Given the description of an element on the screen output the (x, y) to click on. 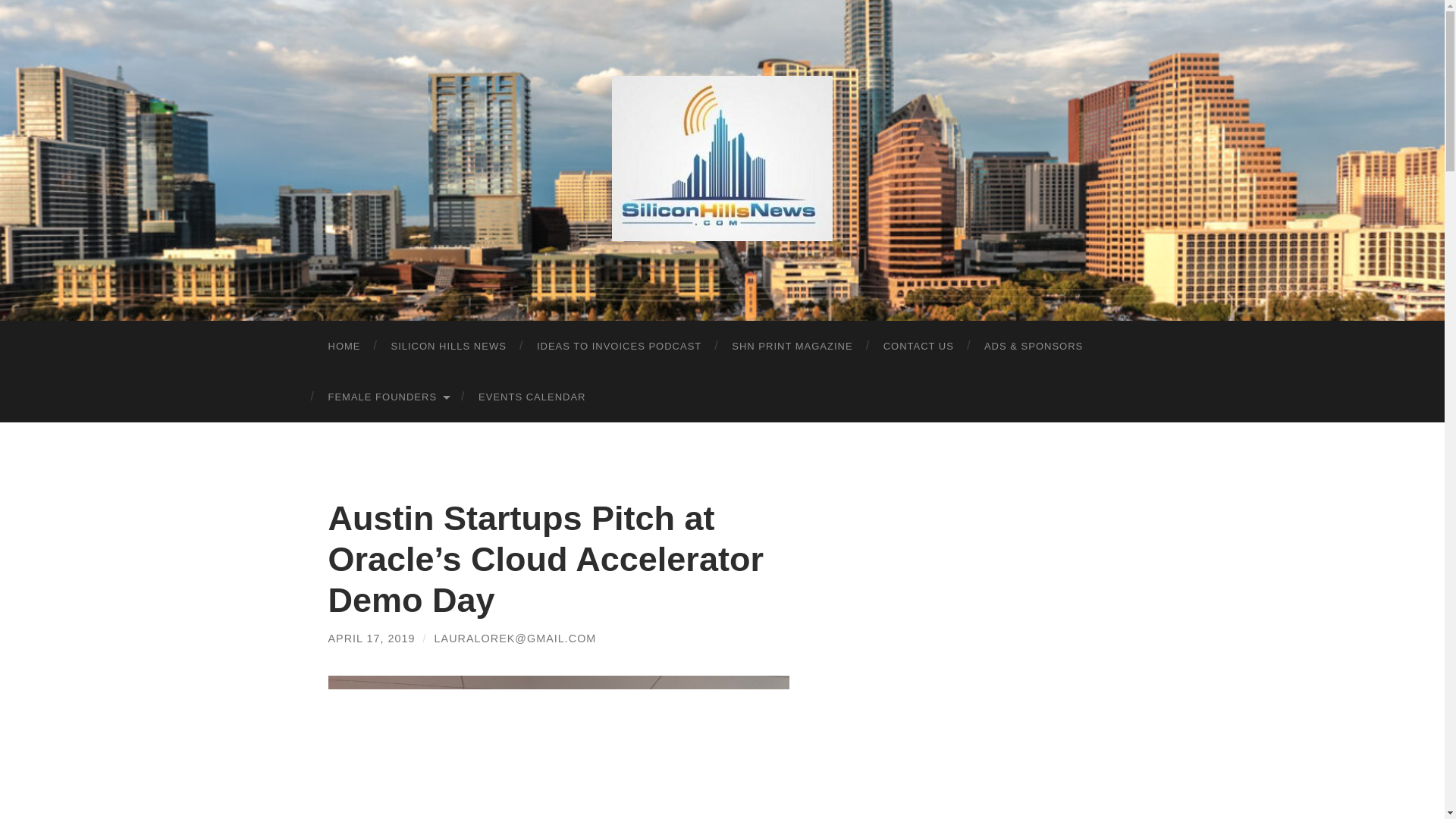
SILICON HILLS NEWS (448, 346)
CONTACT US (918, 346)
SHN PRINT MAGAZINE (791, 346)
IDEAS TO INVOICES PODCAST (618, 346)
EVENTS CALENDAR (531, 396)
APRIL 17, 2019 (370, 638)
SiliconHills (721, 158)
HOME (344, 346)
FEMALE FOUNDERS (388, 396)
